Given the description of an element on the screen output the (x, y) to click on. 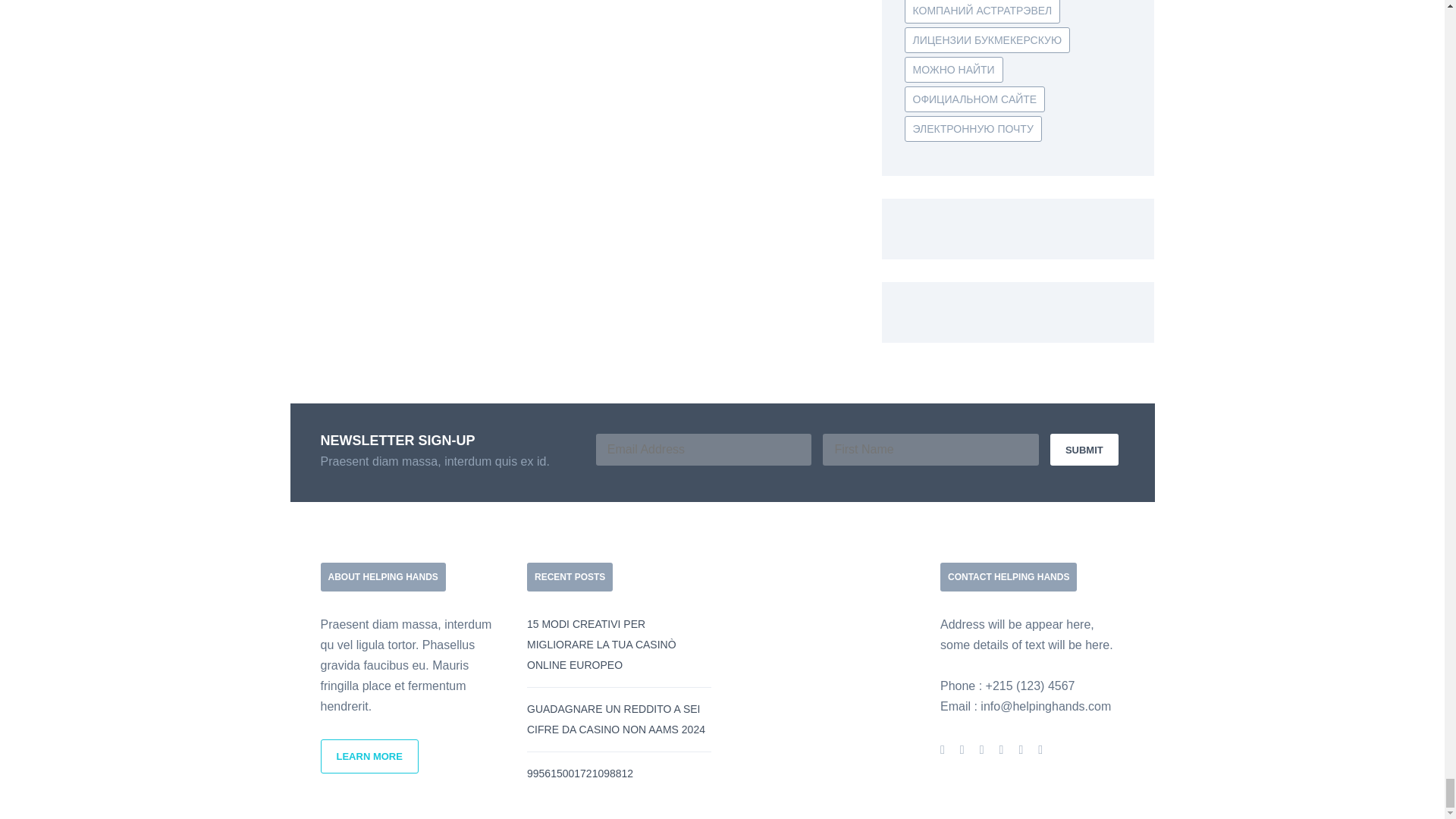
Submit (1083, 450)
